Given the description of an element on the screen output the (x, y) to click on. 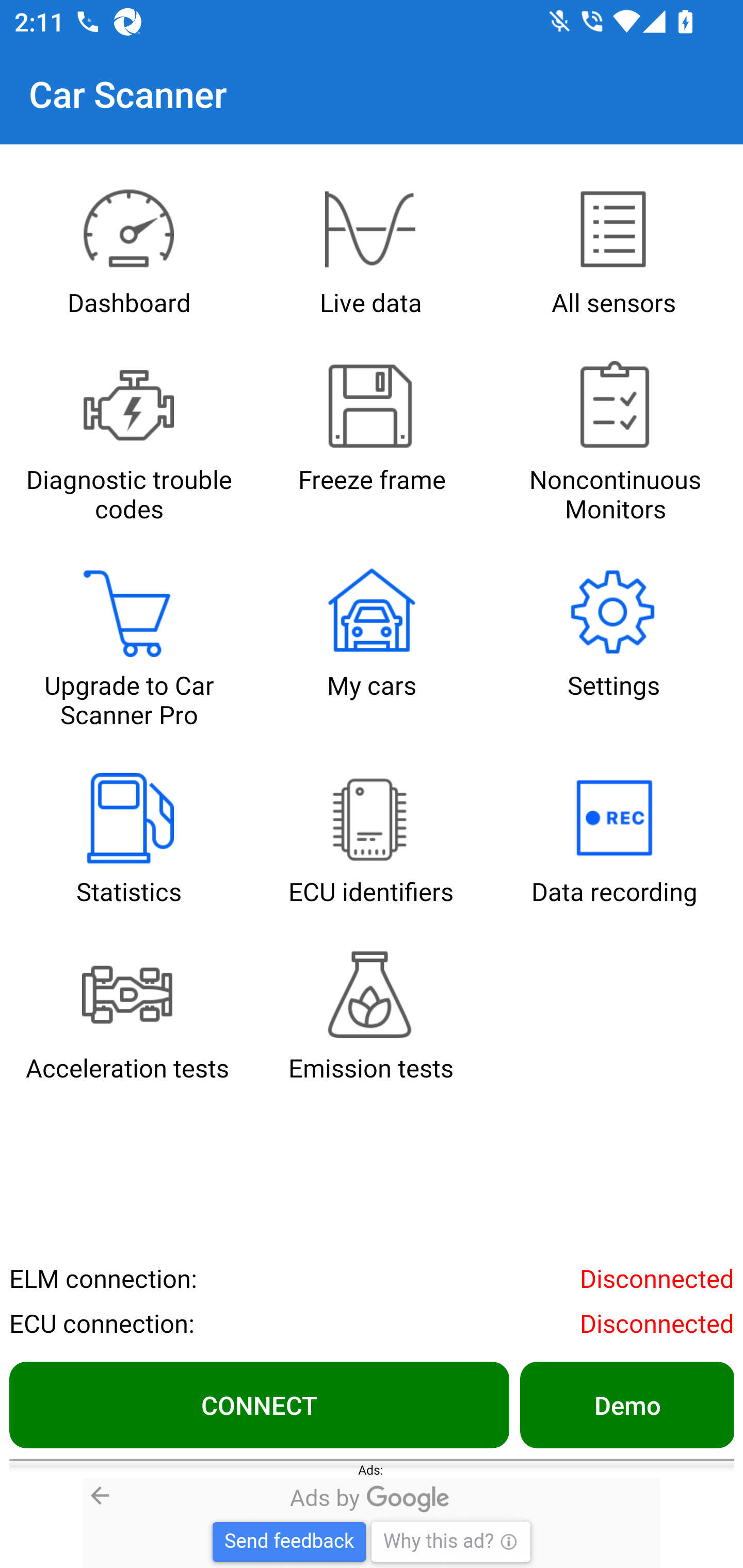
CONNECT (258, 1404)
Demo (627, 1404)
